Given the description of an element on the screen output the (x, y) to click on. 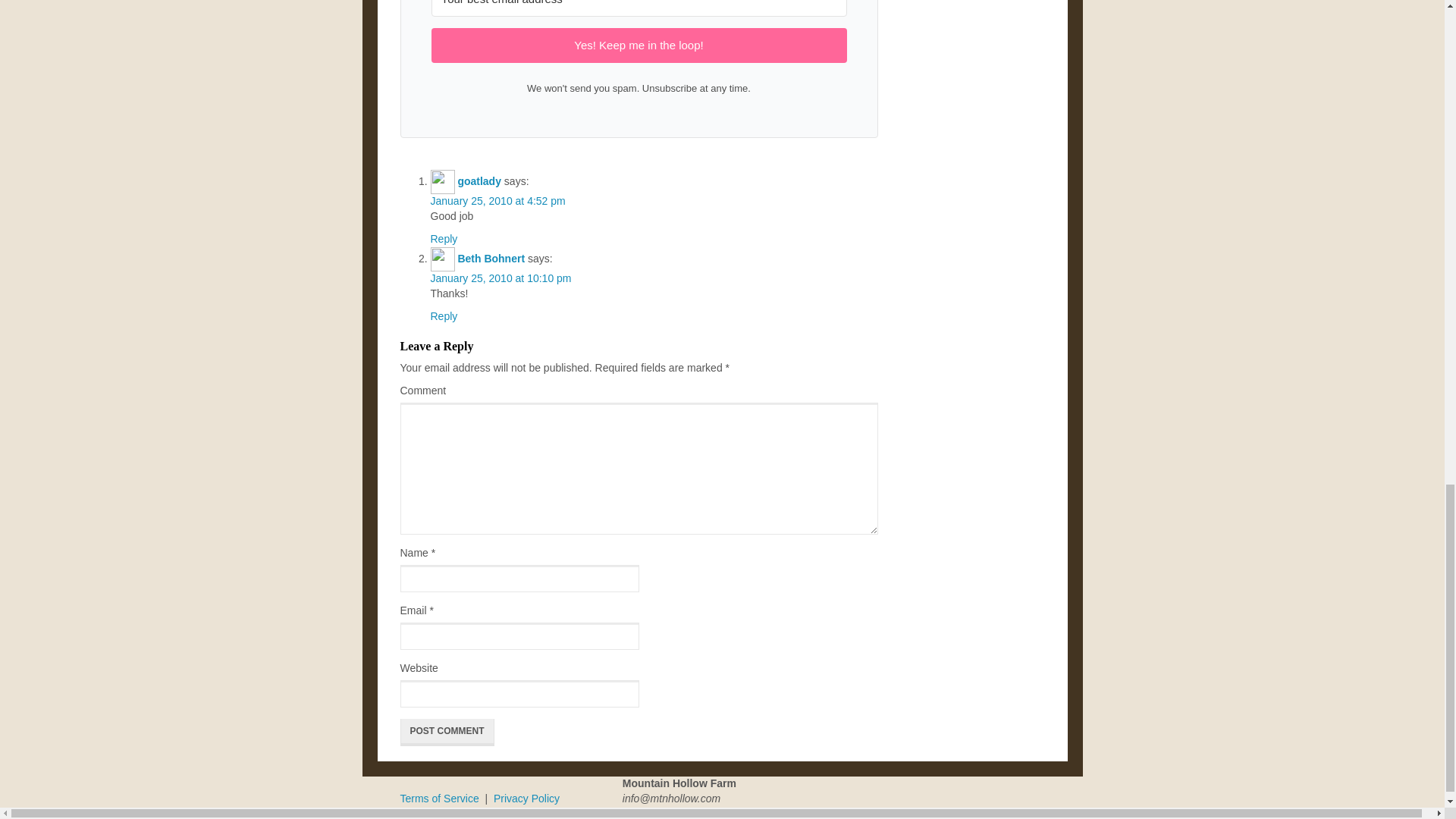
Post Comment (447, 732)
January 25, 2010 at 4:52 pm (498, 200)
Reply (444, 316)
goatlady (478, 181)
January 25, 2010 at 10:10 pm (501, 277)
Reply (444, 238)
Privacy Policy (526, 798)
Beth Bohnert (490, 258)
Post Comment (447, 732)
Yes! Keep me in the loop! (637, 44)
